Given the description of an element on the screen output the (x, y) to click on. 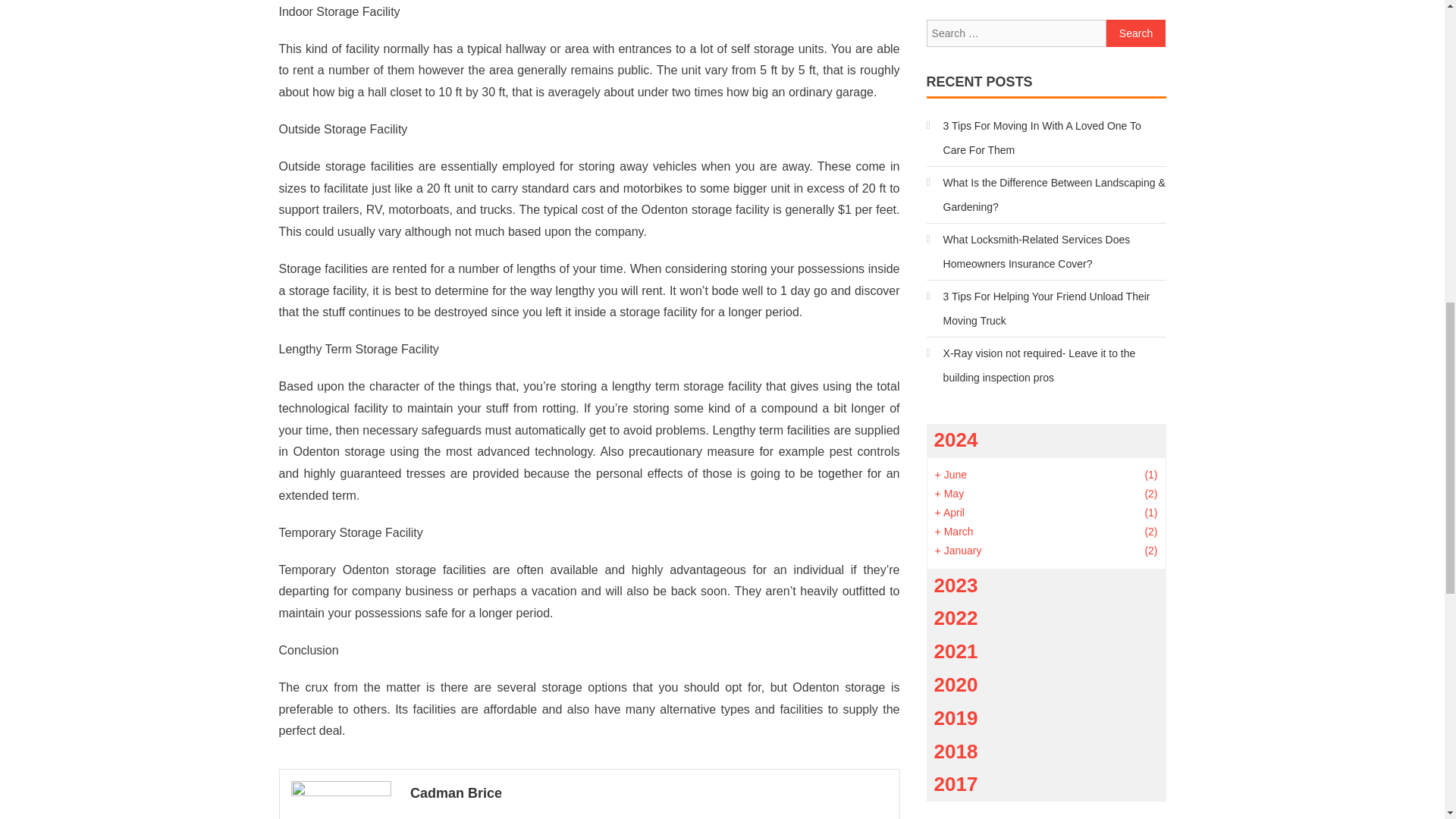
Search (1136, 32)
Cadman Brice (649, 793)
Search (1136, 32)
